Given the description of an element on the screen output the (x, y) to click on. 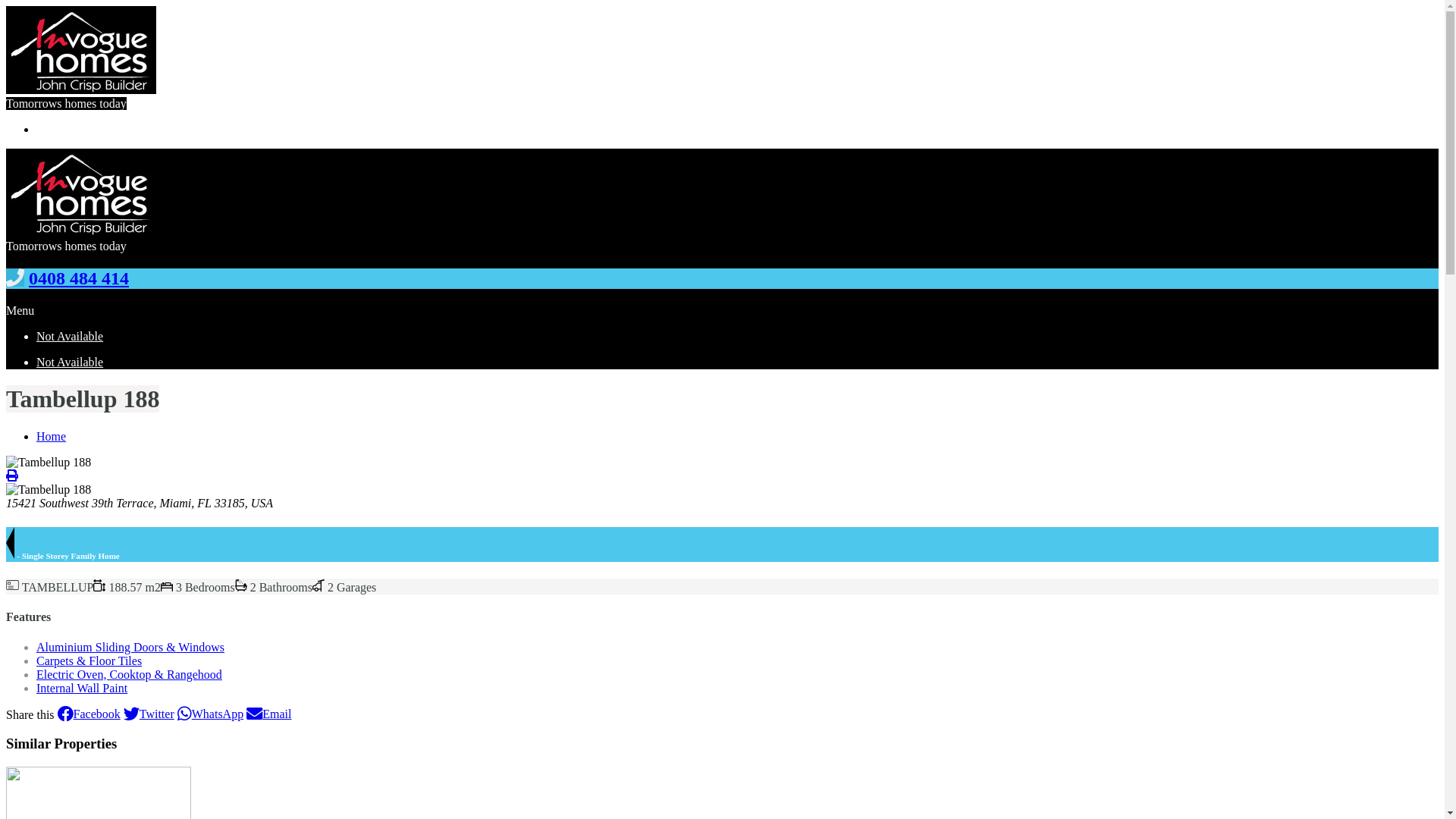
Facebook Element type: text (88, 713)
0408 484 414 Element type: text (78, 278)
Electric Oven, Cooktop & Rangehood Element type: text (129, 674)
Invogue Homes Element type: hover (81, 89)
Not Available Element type: text (69, 128)
Not Available Element type: text (69, 361)
Twitter Element type: text (148, 713)
Email Element type: text (268, 713)
Internal Wall Paint Element type: text (81, 687)
Carpets & Floor Tiles Element type: text (88, 660)
Aluminium Sliding Doors & Windows Element type: text (130, 646)
Not Available Element type: text (69, 335)
Invogue Homes Element type: hover (81, 231)
Home Element type: text (50, 435)
WhatsApp Element type: text (210, 713)
